Given the description of an element on the screen output the (x, y) to click on. 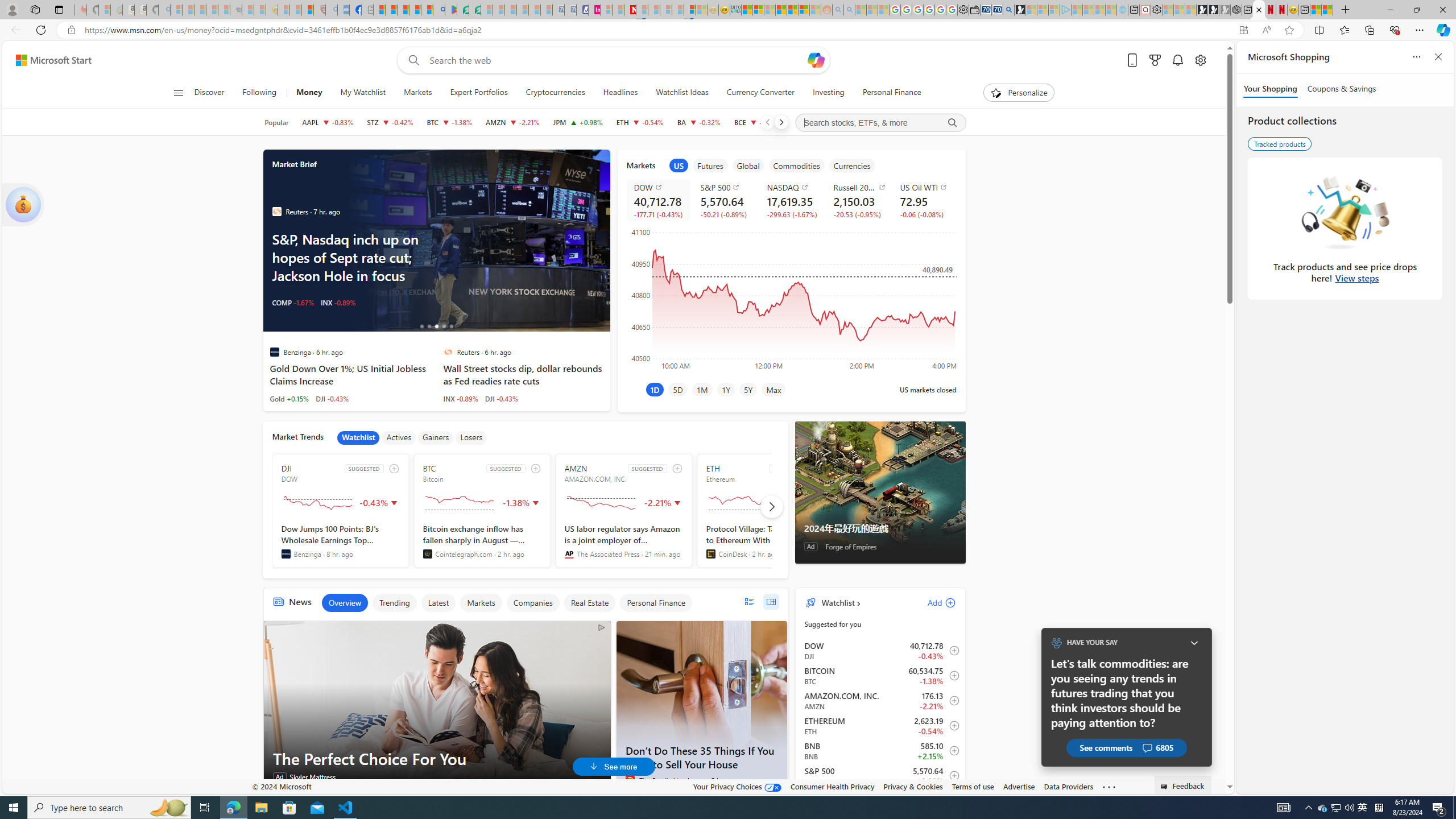
Terms of use (973, 785)
My Watchlist (362, 92)
Consumer Health Privacy (832, 785)
show card (22, 204)
Pets - MSN (415, 9)
Class: oneFooter_seeMore-DS-EntryPoint1-1 (1108, 786)
